Given the description of an element on the screen output the (x, y) to click on. 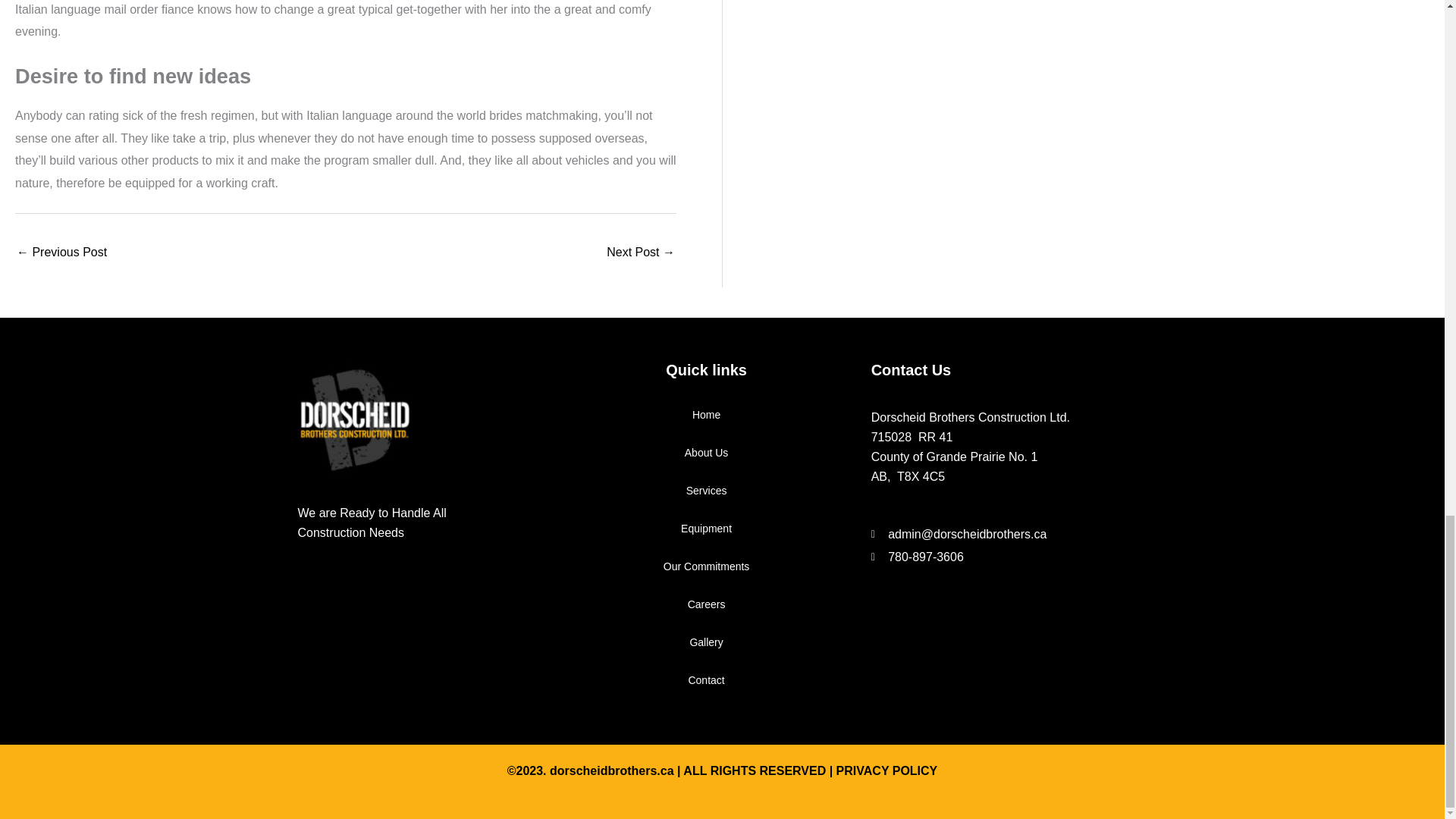
How to Use Split Display screen View in Mac (641, 253)
Home (706, 414)
About Us (706, 452)
